Given the description of an element on the screen output the (x, y) to click on. 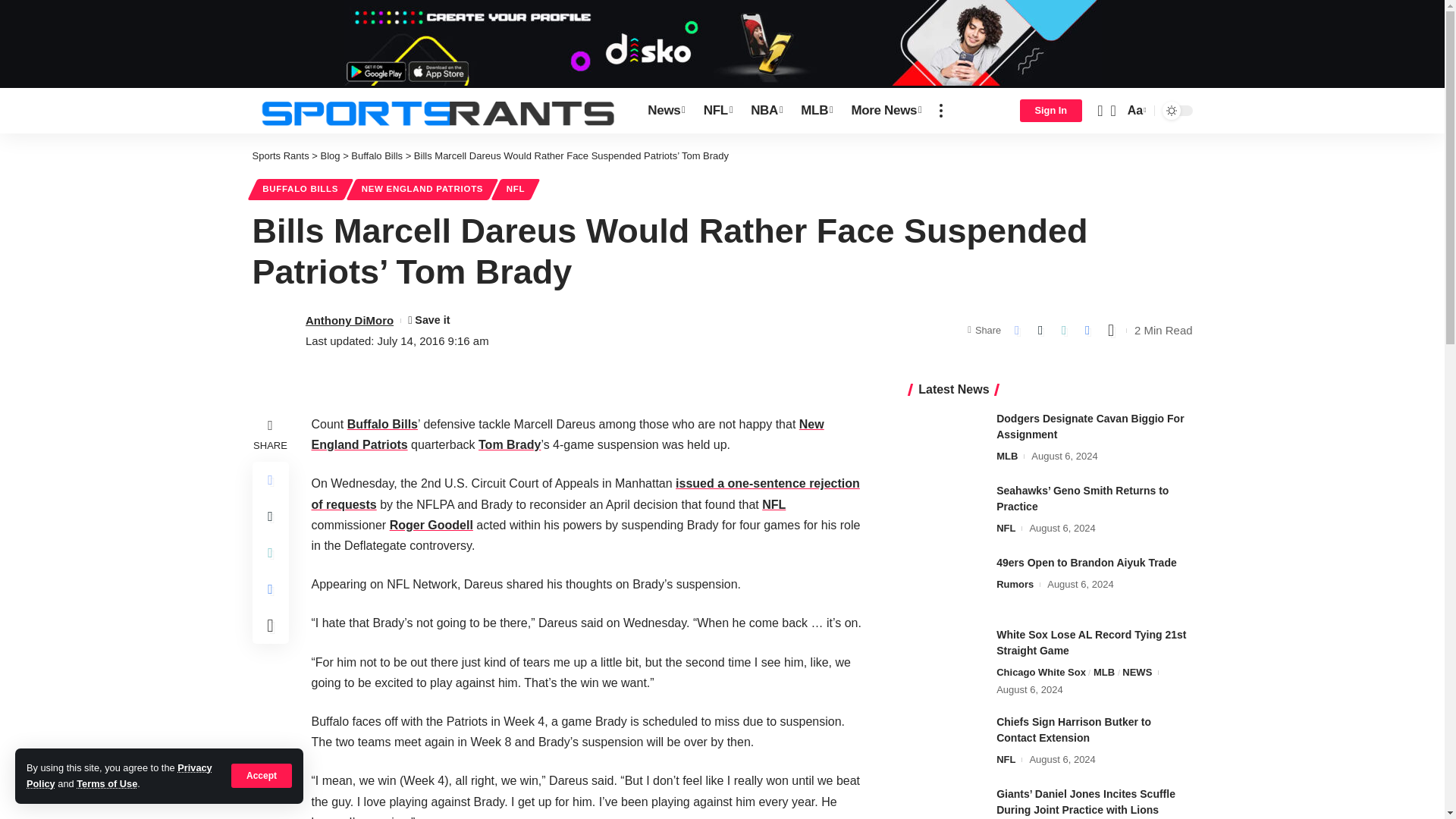
NBA (766, 110)
Privacy Policy (119, 775)
Accept (261, 775)
Terms of Use (106, 783)
NFL (717, 110)
News (666, 110)
Sports Rants (437, 110)
